Given the description of an element on the screen output the (x, y) to click on. 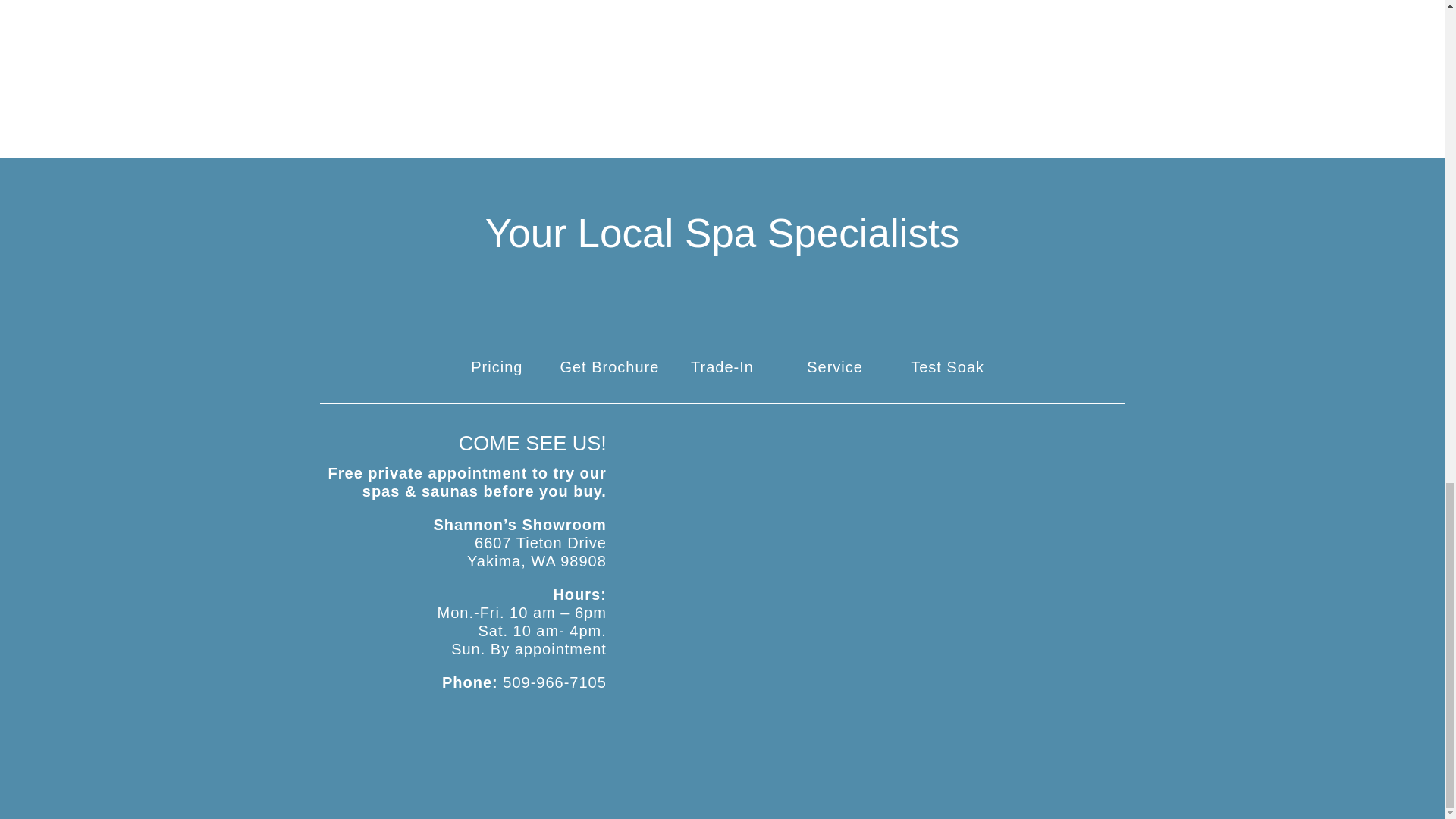
icon-Brochure (609, 340)
icon-Test-Soak (947, 340)
